Given the description of an element on the screen output the (x, y) to click on. 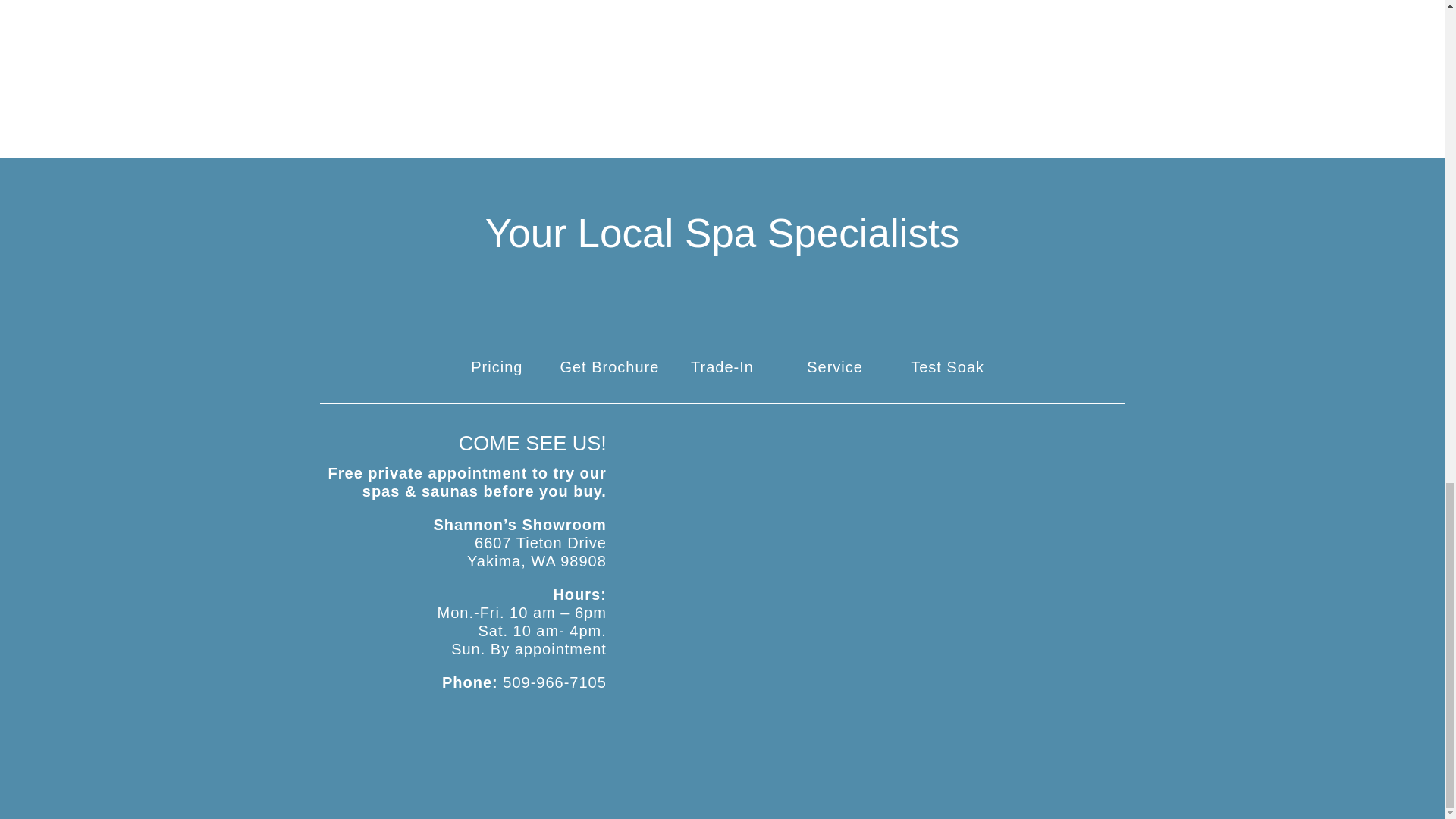
icon-Brochure (609, 340)
icon-Test-Soak (947, 340)
